Given the description of an element on the screen output the (x, y) to click on. 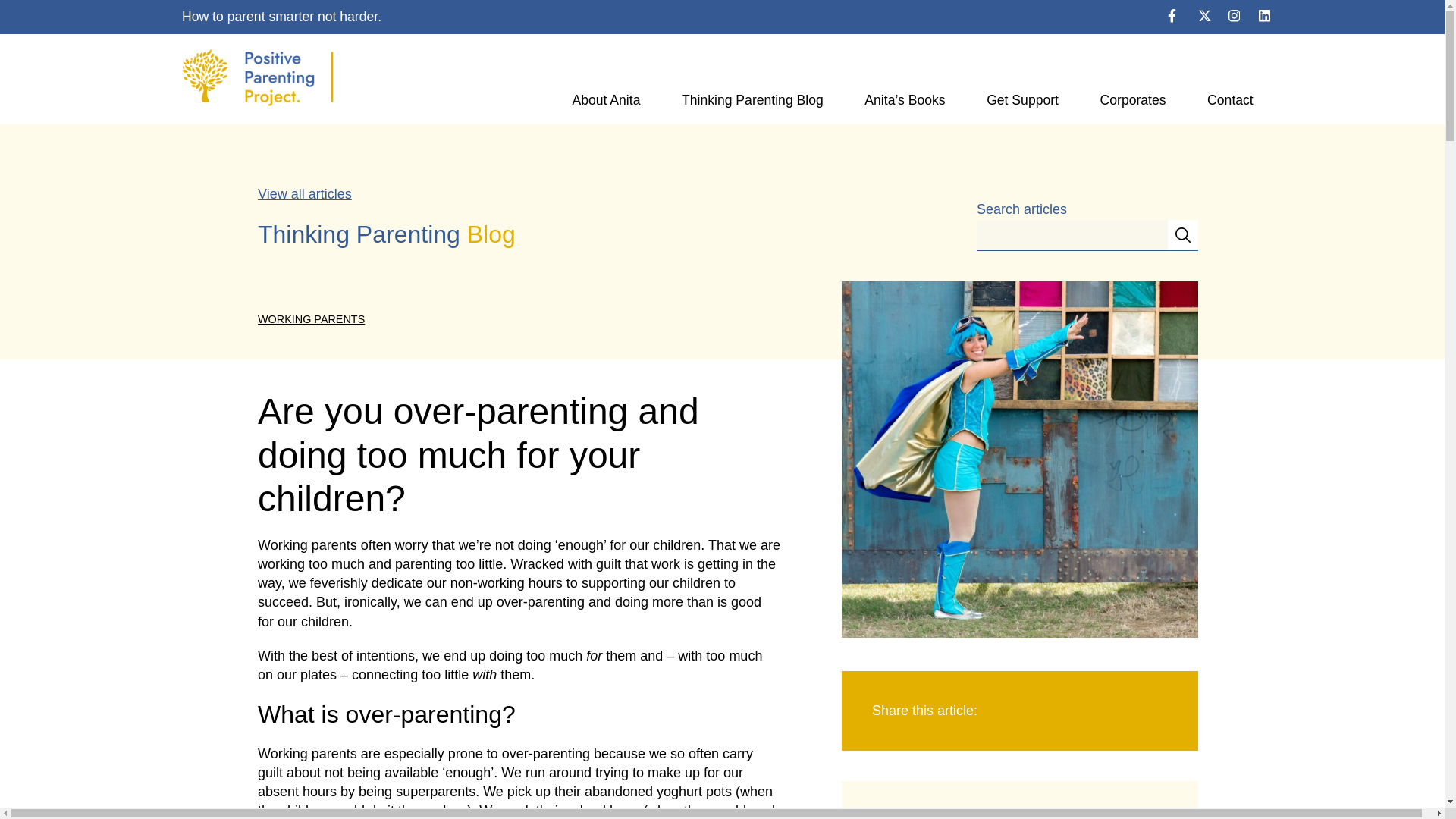
Twitter (1205, 16)
Positive Parenting Project (336, 79)
search (1071, 235)
Contact (1230, 99)
Twitter (1204, 15)
Get Support (1022, 99)
LinkedIn (1266, 16)
WORKING PARENTS (311, 318)
About Anita (605, 99)
View all articles (304, 193)
